Given the description of an element on the screen output the (x, y) to click on. 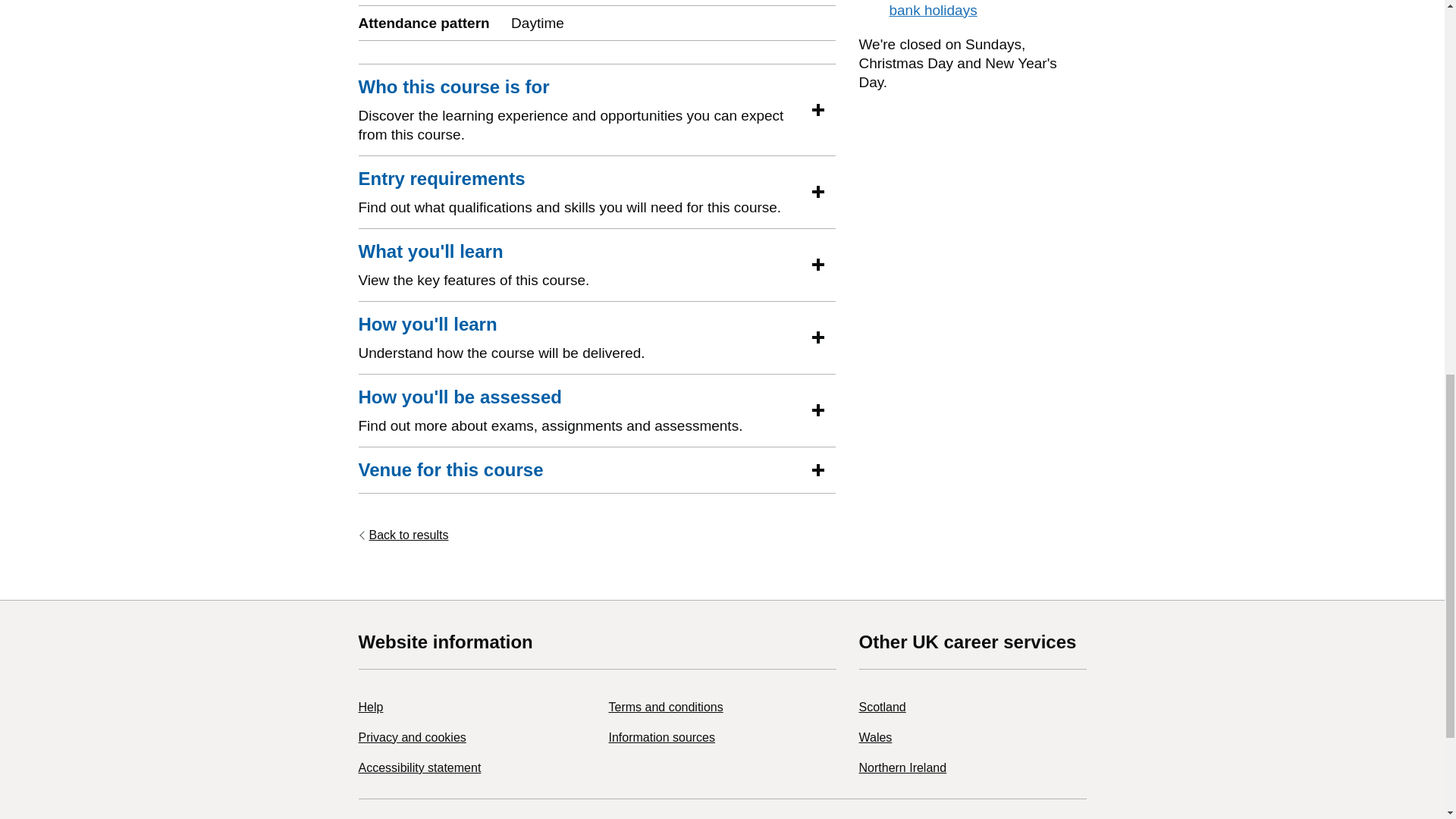
Help (370, 707)
Venue for this course (450, 469)
How you'll learn (427, 323)
What you'll learn (430, 251)
Back to results (403, 534)
How you'll be assessed (459, 396)
Terms and conditions (665, 707)
Who this course is for (453, 87)
Wales (875, 737)
Entry requirements (441, 178)
Accessibility statement (419, 767)
bank holidays (932, 10)
Information sources (661, 737)
Privacy and cookies (411, 737)
Scotland (882, 707)
